Given the description of an element on the screen output the (x, y) to click on. 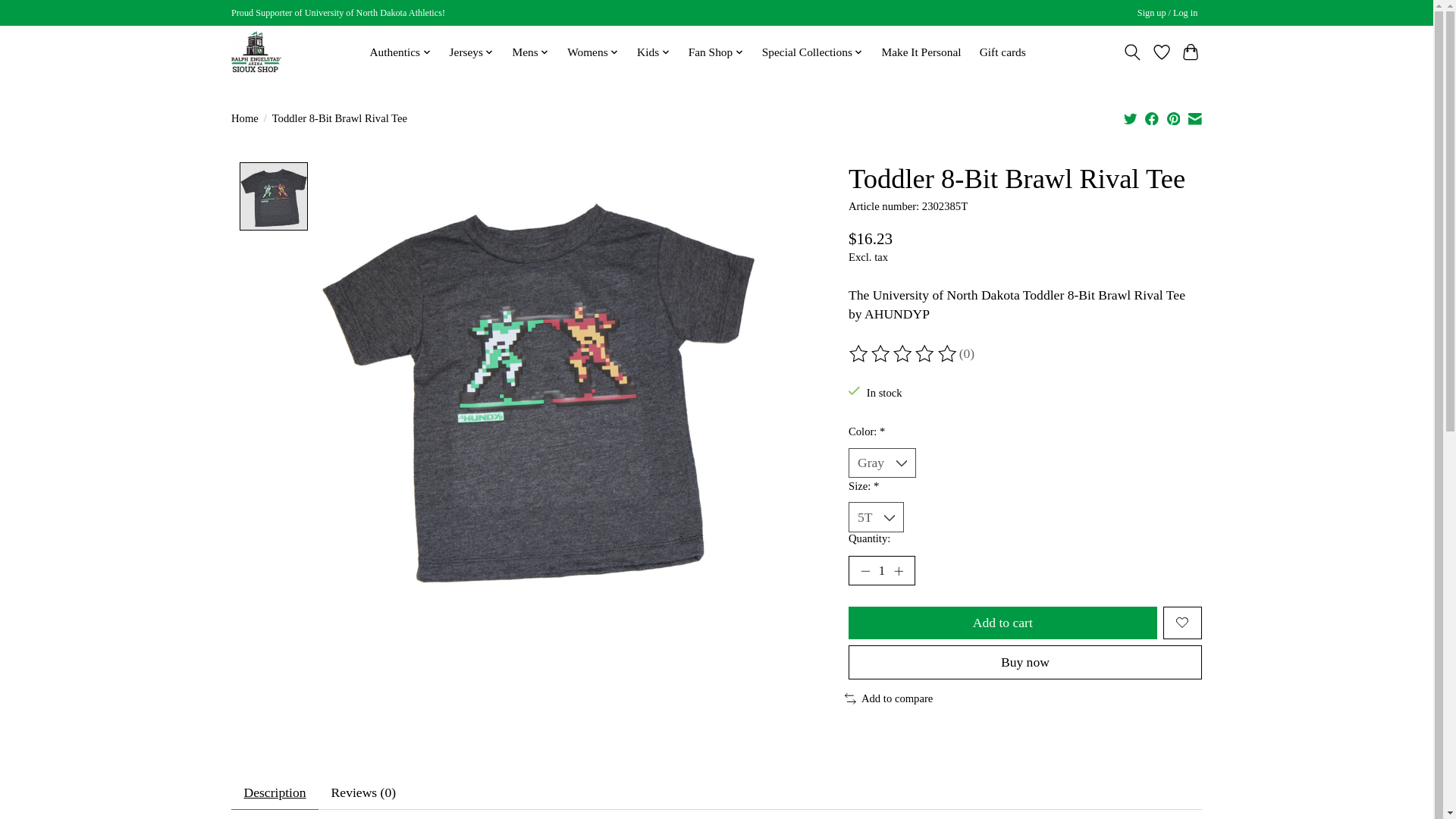
Share on Pinterest (1173, 118)
Share on Facebook (1151, 118)
Authentics (400, 52)
Sioux Shop at Ralph Engelstad Arena (256, 51)
Share by Email (1194, 118)
1 (881, 571)
My account (1167, 13)
Share on Twitter (1130, 118)
